Given the description of an element on the screen output the (x, y) to click on. 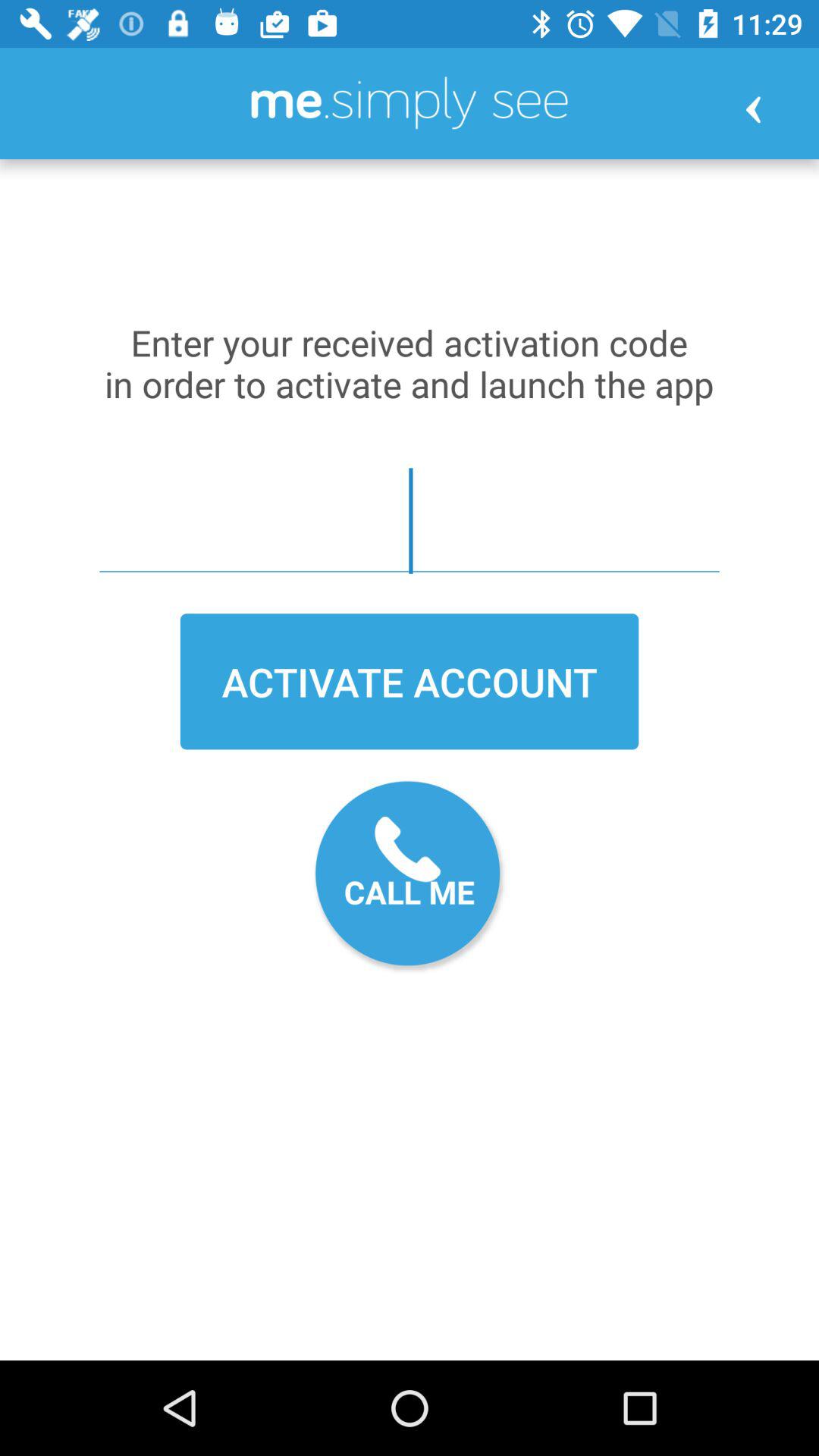
turn on item below enter your received icon (409, 520)
